Given the description of an element on the screen output the (x, y) to click on. 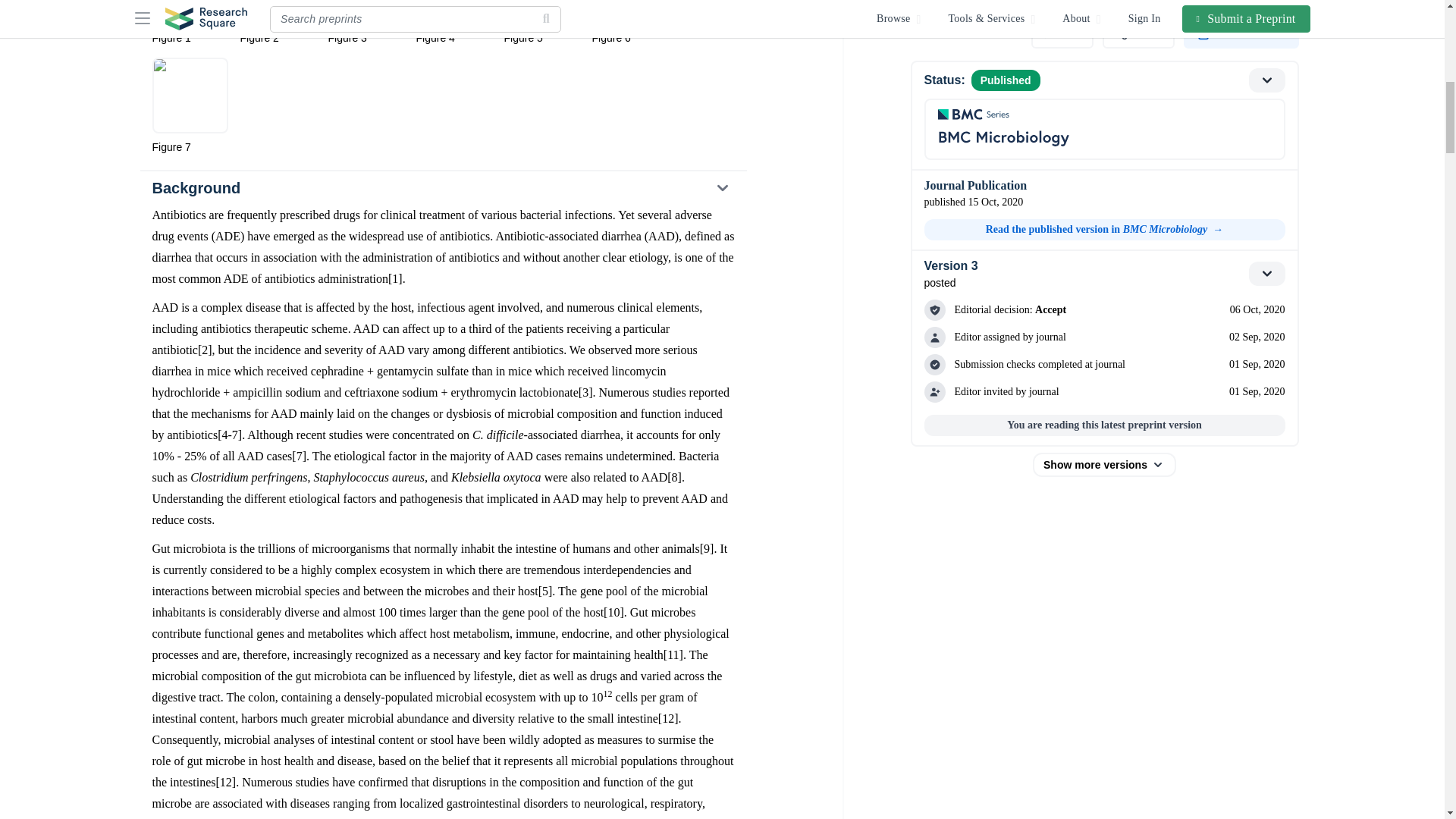
Background (442, 187)
Figure 4 (453, 22)
Figure 1 (189, 22)
Figure 2 (277, 22)
Figure 3 (365, 22)
Figure 5 (541, 22)
Figure 6 (628, 22)
